Given the description of an element on the screen output the (x, y) to click on. 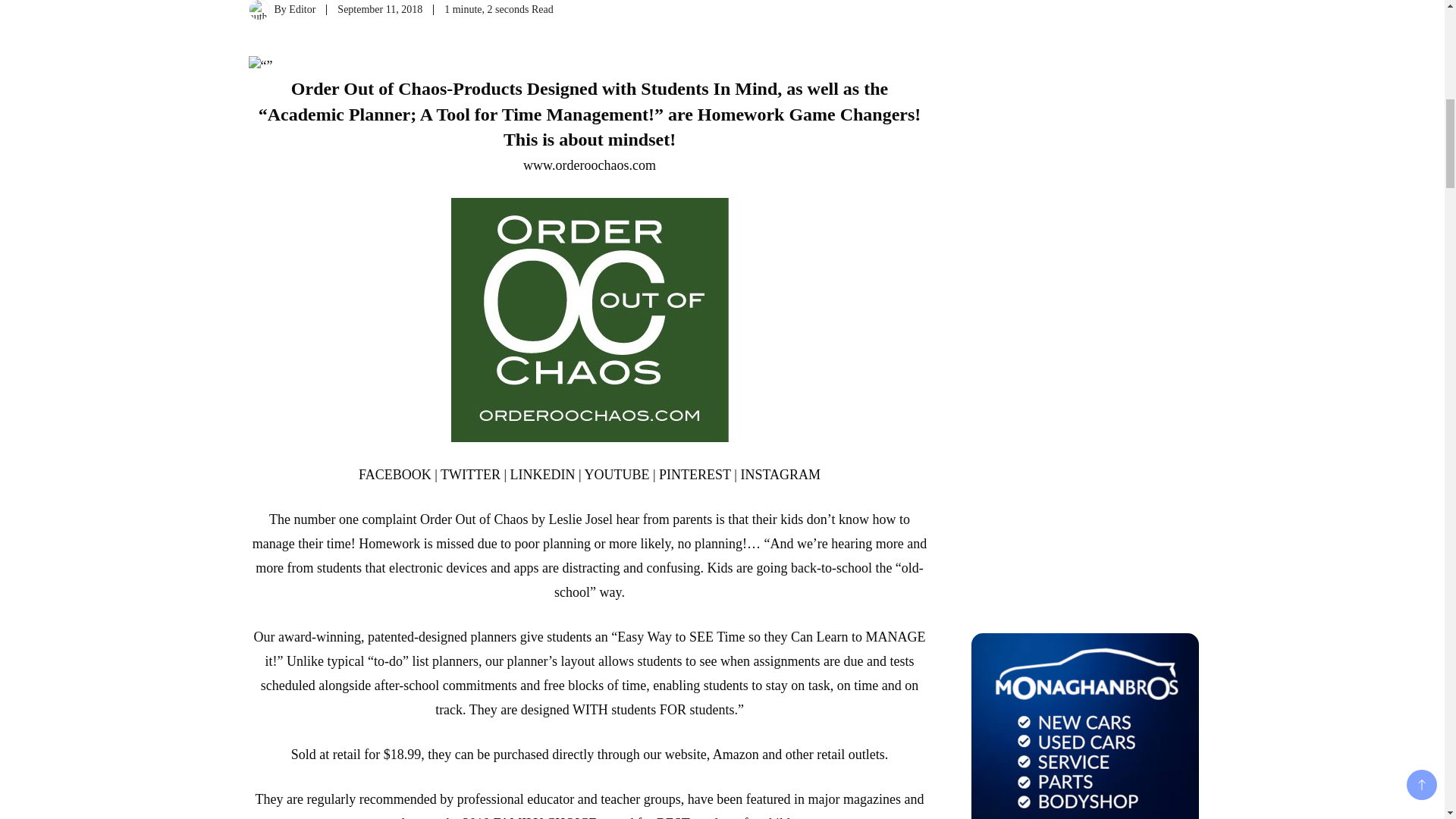
September 11, 2018 (379, 9)
PINTEREST (694, 474)
LINKEDIN (543, 474)
TWITTER (470, 474)
www.orderoochaos.com (589, 165)
YOUTUBE (616, 474)
Editor (301, 9)
FACEBOOK (394, 474)
INSTAGRAM (780, 474)
